Given the description of an element on the screen output the (x, y) to click on. 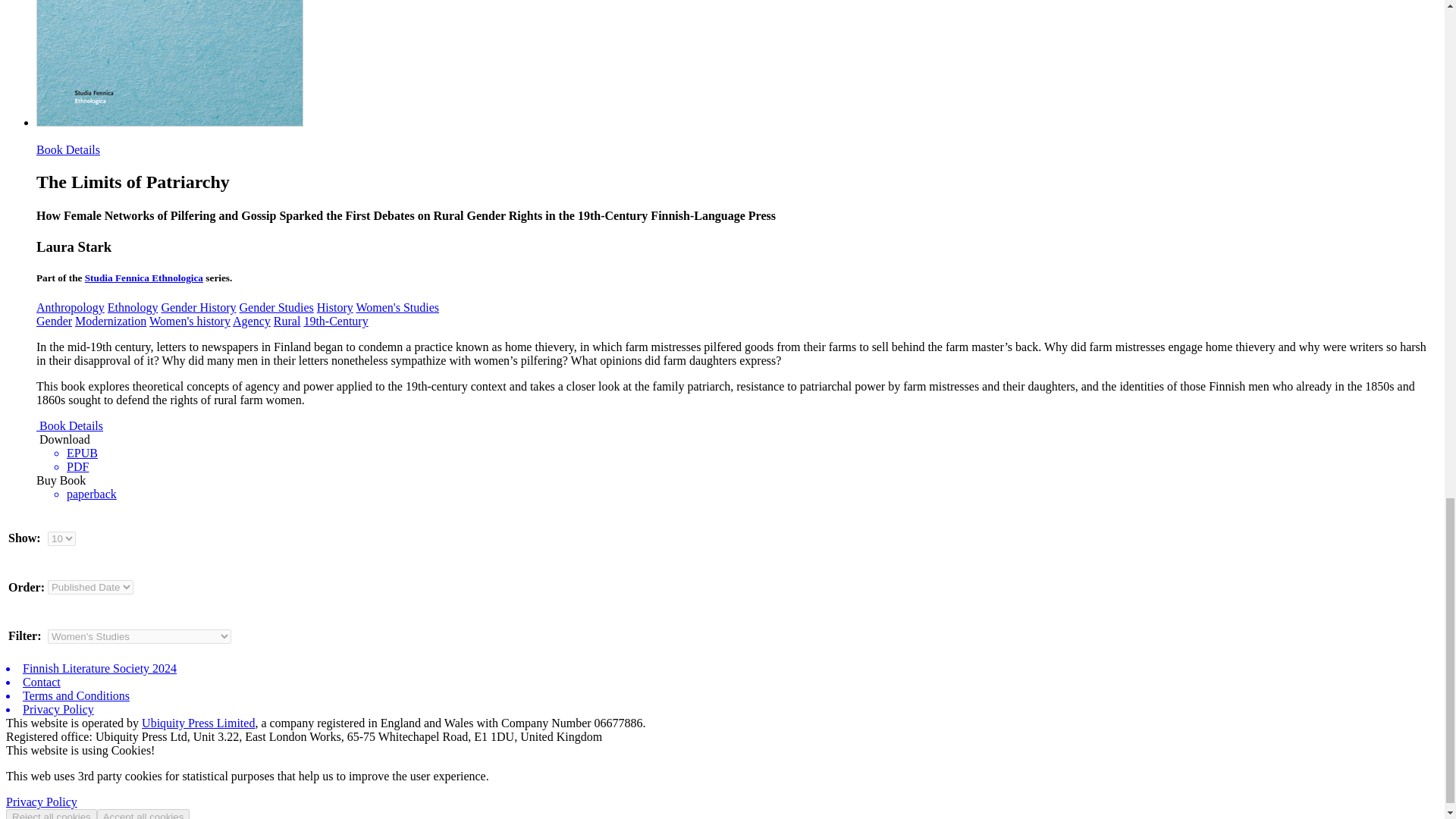
Women's Studies (397, 307)
Gender History (197, 307)
History (335, 307)
Gender Studies (277, 307)
Gender (53, 320)
Anthropology (70, 307)
Studia Fennica Ethnologica (143, 277)
Modernization (111, 320)
Ethnology (132, 307)
